Given the description of an element on the screen output the (x, y) to click on. 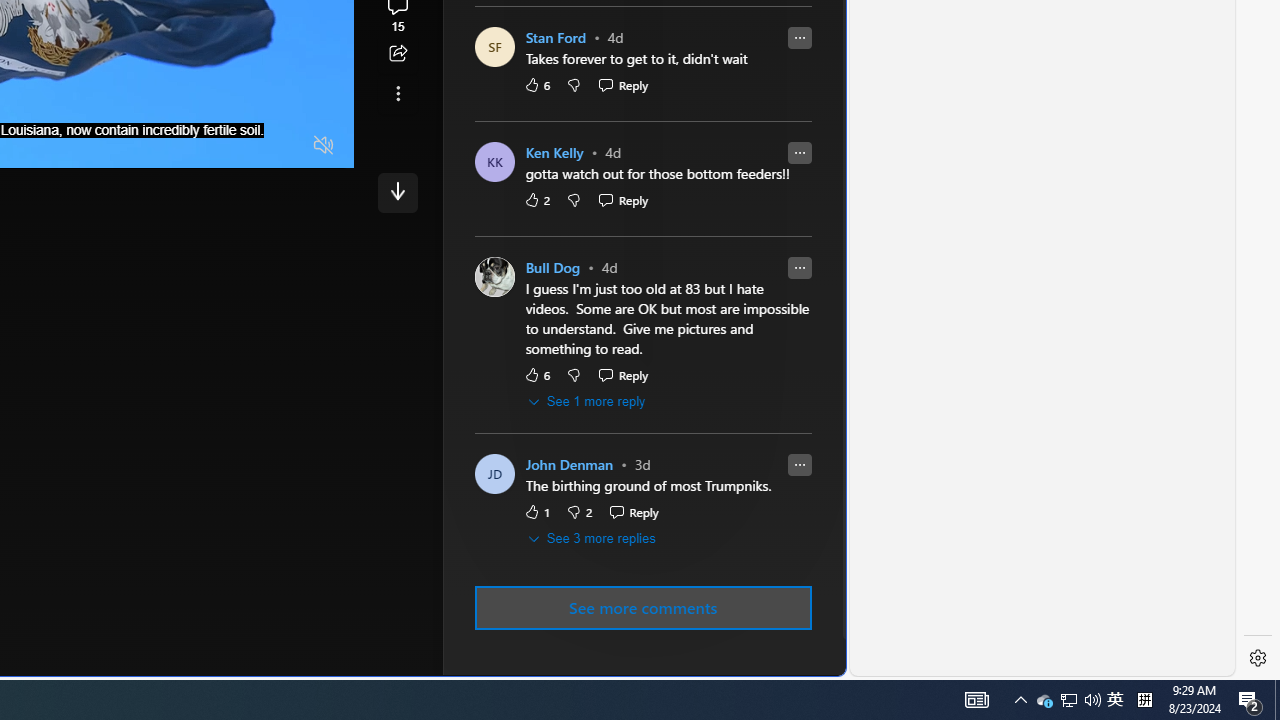
Stan Ford (555, 38)
Class: control (397, 192)
Fullscreen (285, 146)
See 1 more reply (587, 402)
See 3 more replies (592, 538)
Ken Kelly (553, 153)
Reply Reply Comment (633, 511)
Report comment (799, 465)
